Given the description of an element on the screen output the (x, y) to click on. 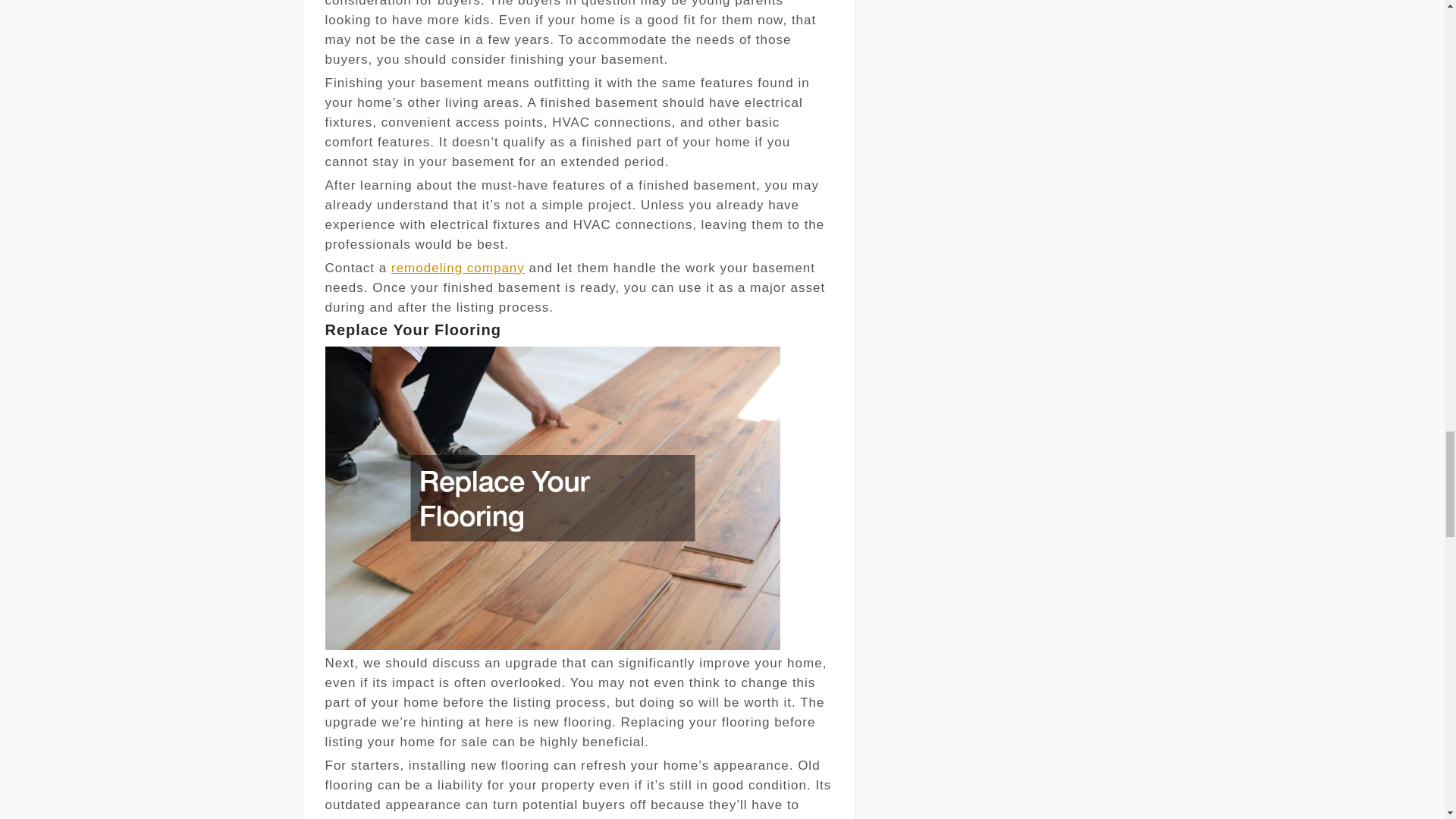
remodeling company (457, 268)
